Given the description of an element on the screen output the (x, y) to click on. 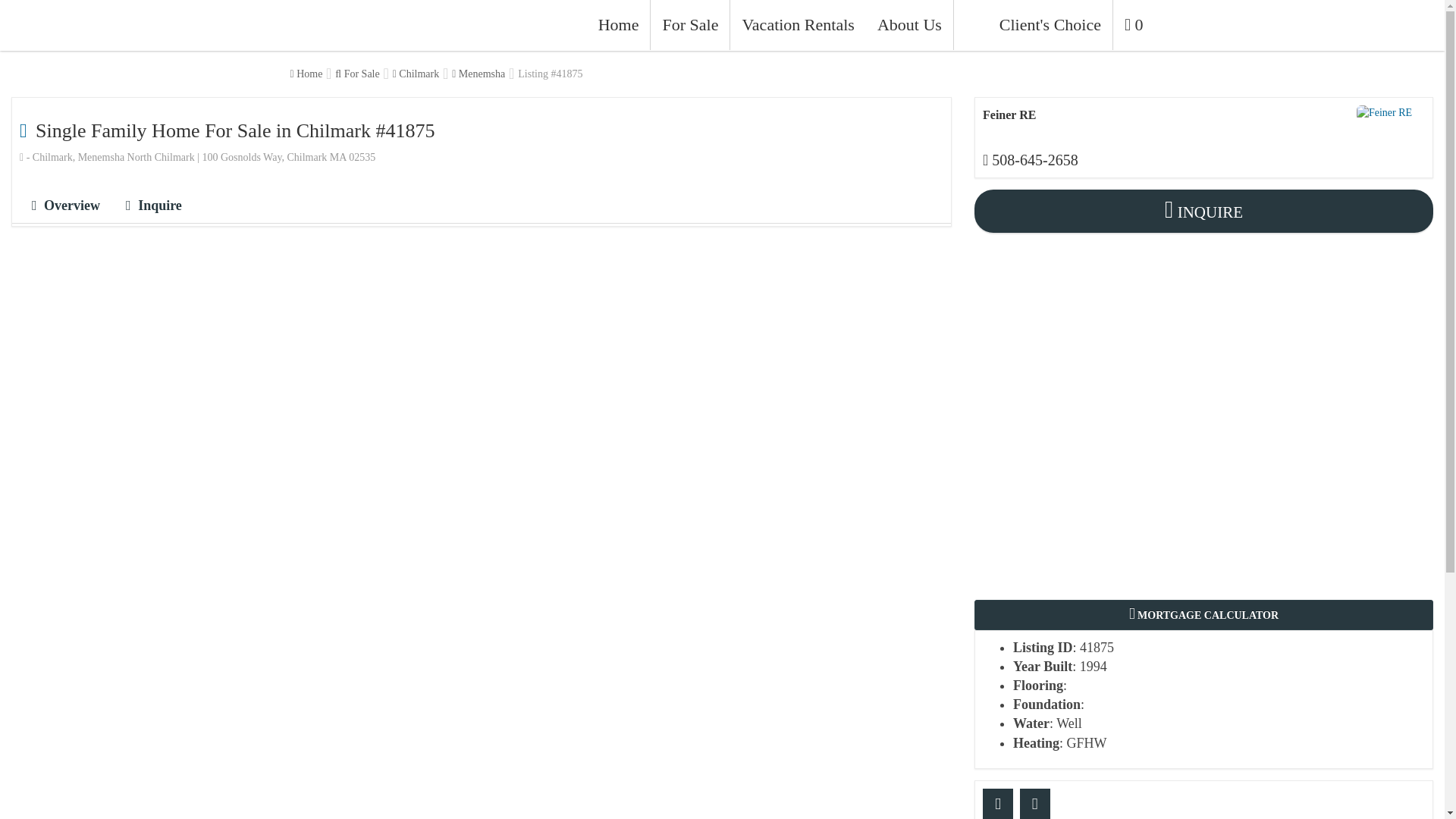
For Sale (689, 24)
About Us (909, 24)
For Sale (356, 73)
Chilmark (416, 73)
Send to a friend (997, 803)
Client's Choice (1032, 24)
Home (305, 73)
Home (618, 24)
Vacation Rentals (796, 24)
Overview (66, 206)
Menemsha (478, 73)
Feiner real estate (1390, 112)
Inquire (153, 206)
